Given the description of an element on the screen output the (x, y) to click on. 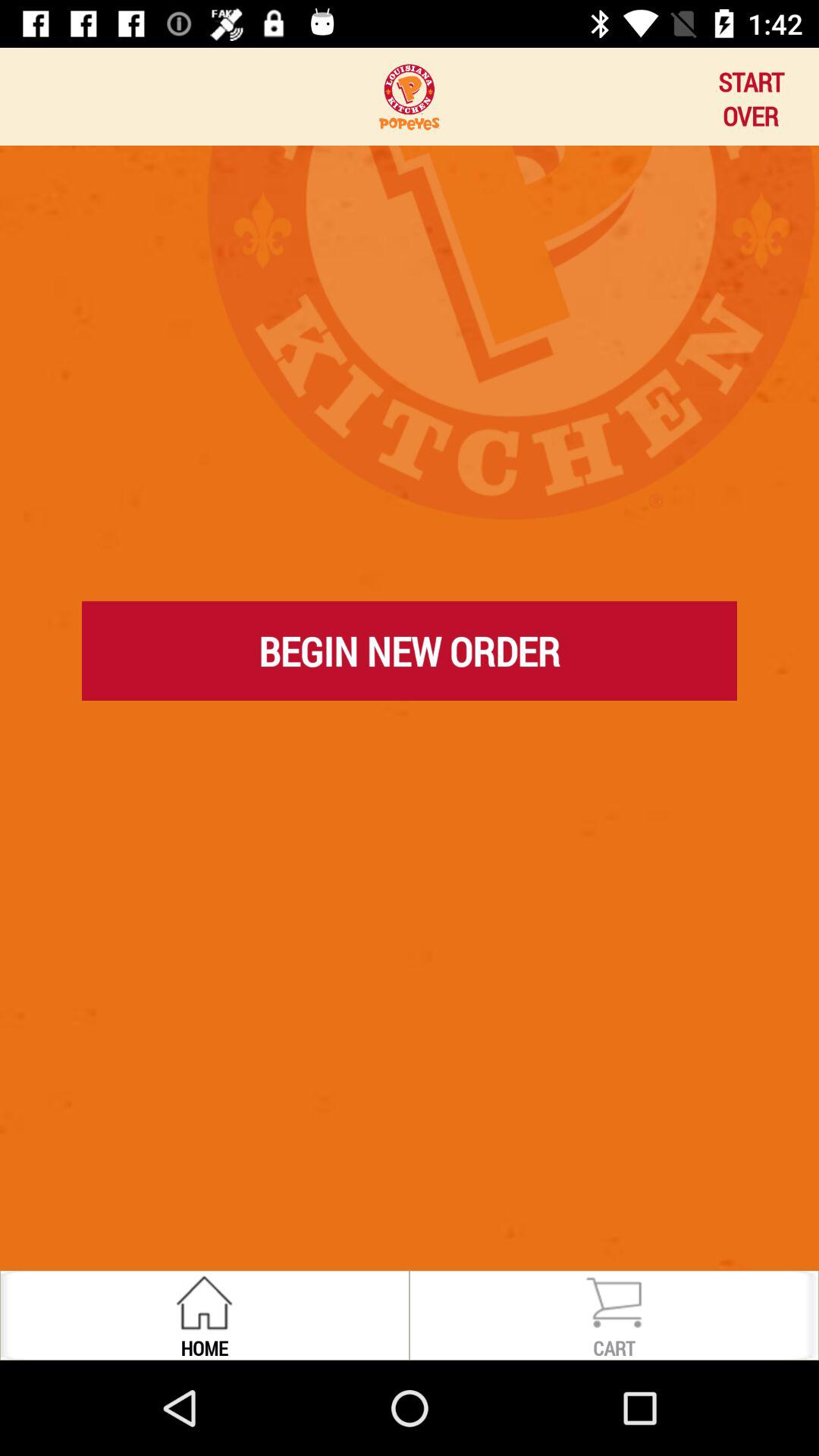
turn off the item below begin new order (409, 720)
